Given the description of an element on the screen output the (x, y) to click on. 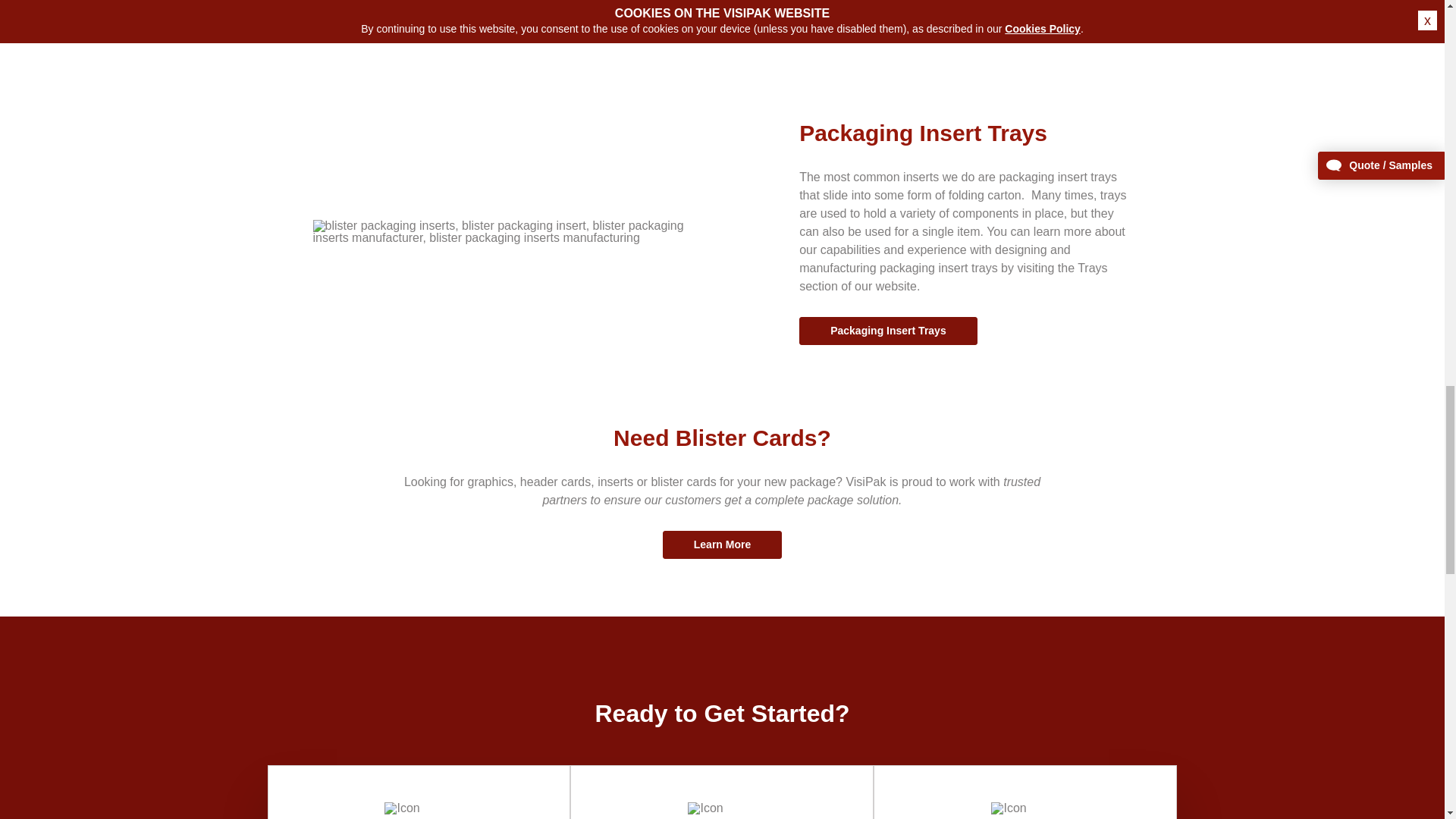
Packaging Insert Trays (887, 330)
Shop Online (1025, 792)
Learn More (721, 544)
blister packaging inserts (513, 232)
Contact Us (721, 792)
Request a Quote or Sample (418, 792)
Yoga Toes Case Study (386, 26)
